Given the description of an element on the screen output the (x, y) to click on. 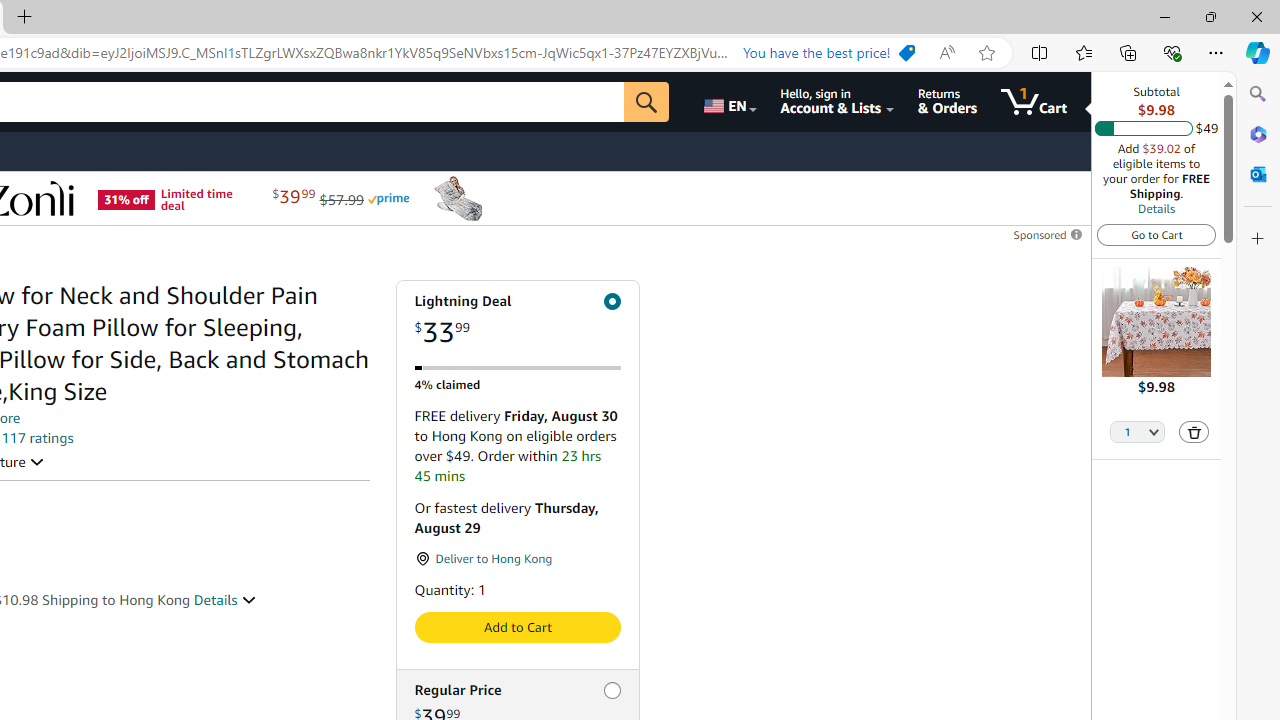
Go to Cart (1156, 234)
1 item in cart (1034, 101)
Quantity Selector (1137, 433)
117 ratings (37, 438)
Prime (388, 198)
Go (646, 101)
Hello, sign in Account & Lists (836, 101)
